Given the description of an element on the screen output the (x, y) to click on. 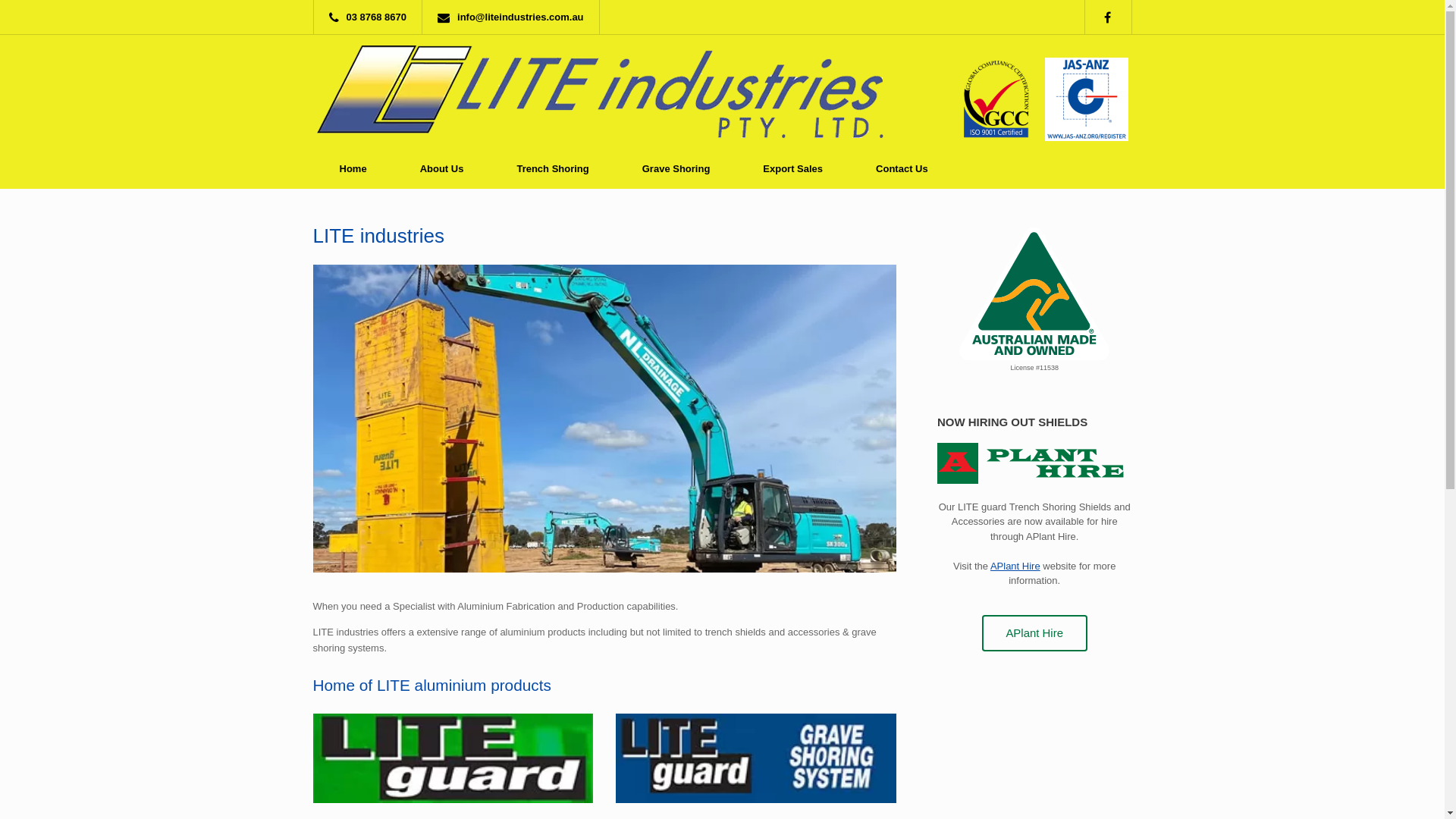
Facebook Element type: hover (1114, 17)
LITE guard Grave Shoring System Element type: hover (755, 758)
LITE industries Element type: hover (599, 91)
Trench Shoring Element type: text (552, 168)
About Us Element type: text (441, 168)
Contact Us Element type: text (901, 168)
APlant Hire Element type: hover (1034, 462)
Export Sales Element type: text (792, 168)
APlant Hire Element type: text (1015, 565)
APlant Hire Element type: text (1034, 633)
Home Element type: text (352, 168)
Grave Shoring Element type: text (676, 168)
License #11538 Element type: hover (1034, 293)
LITE guard Element type: hover (452, 758)
03 8768 8670 Element type: text (371, 17)
info@liteindustries.com.au Element type: text (514, 17)
